Given the description of an element on the screen output the (x, y) to click on. 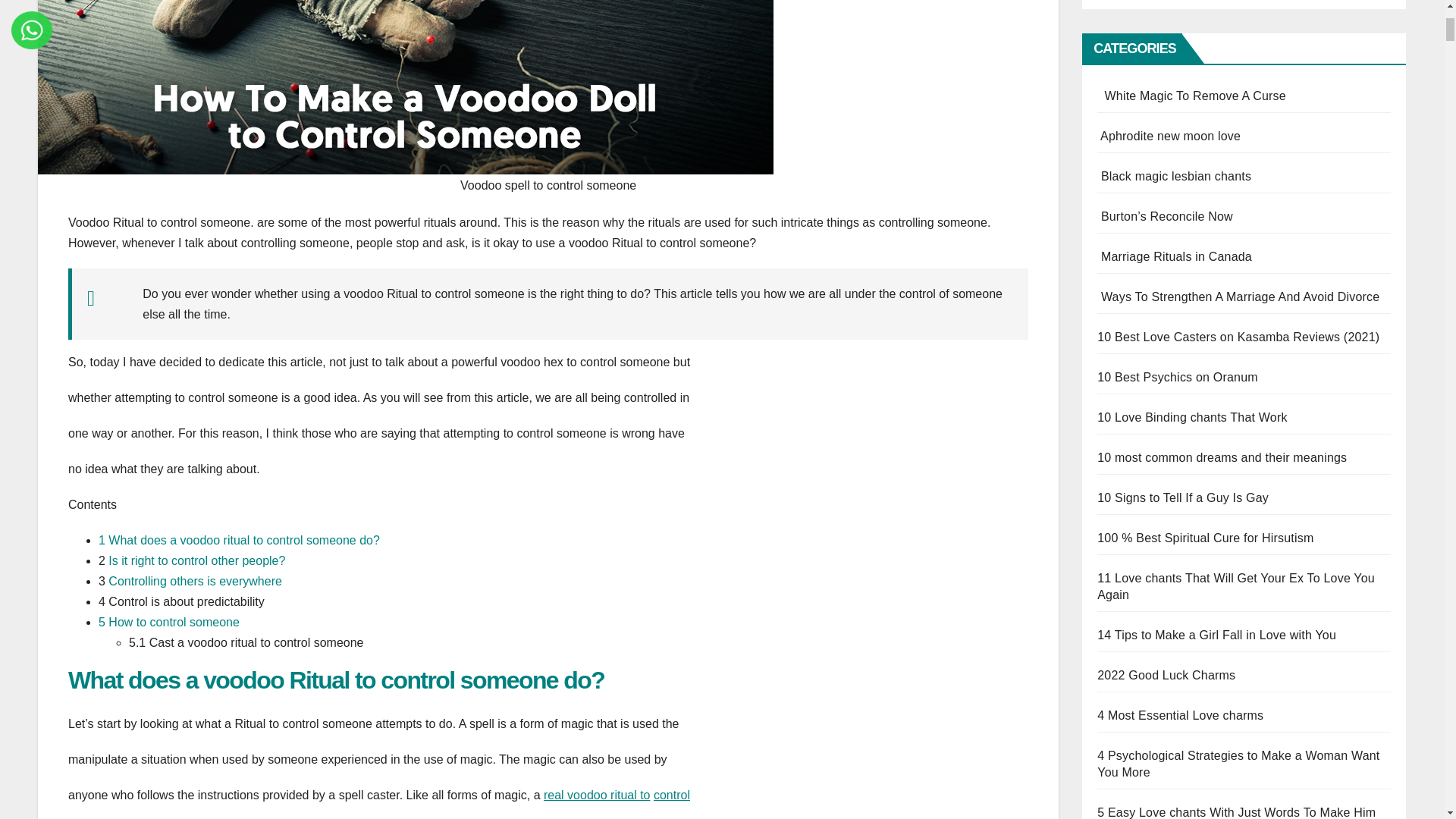
 Is it right to control other people?   (198, 560)
1 What does a voodoo ritual to control someone do?  (240, 540)
control (671, 794)
Controlling others is everywhere (194, 581)
What does a voodoo Ritual to control someone do? (336, 679)
real voodoo ritual to (596, 794)
5 How to control someone (169, 621)
